Given the description of an element on the screen output the (x, y) to click on. 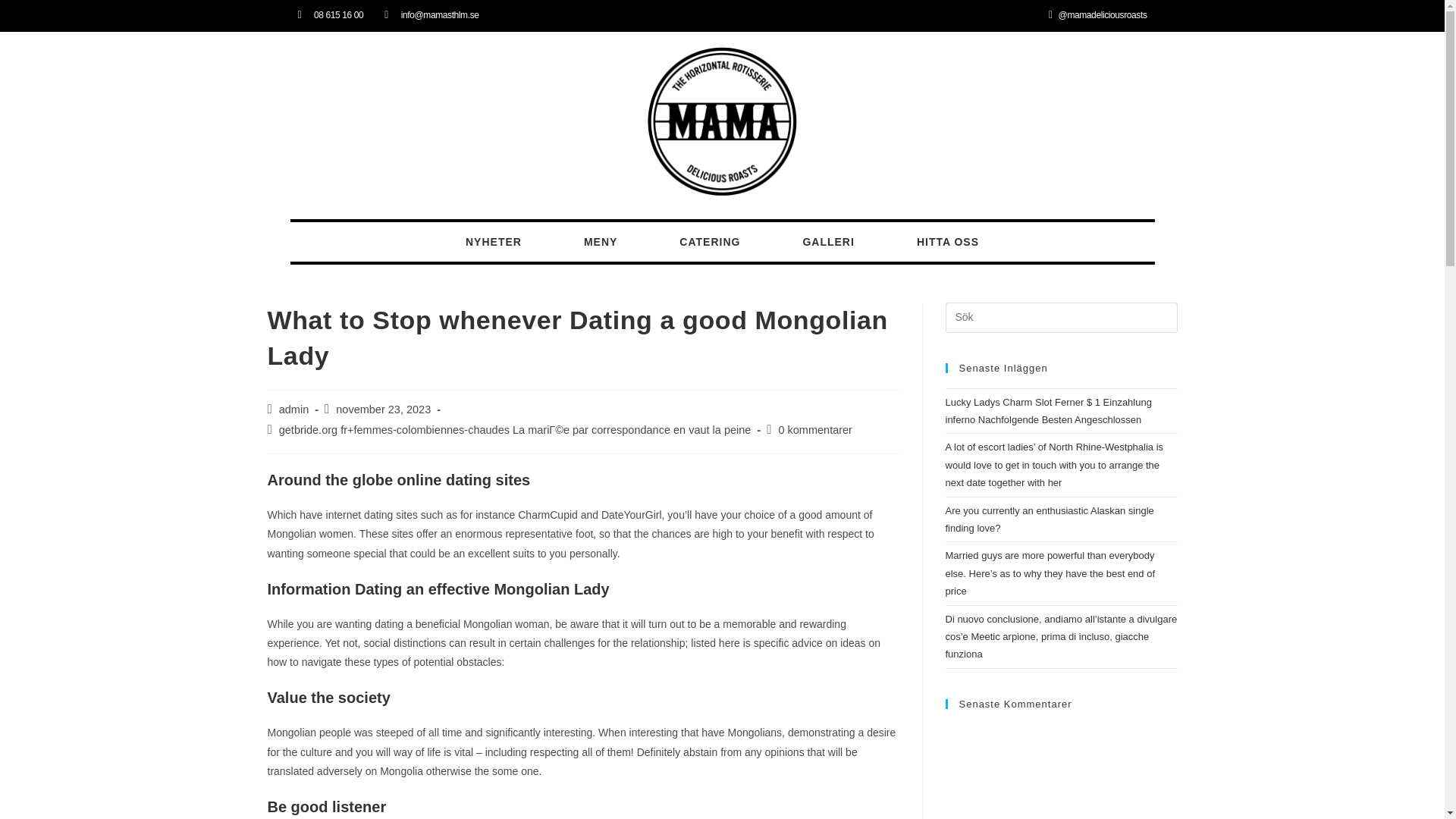
GALLERI (828, 241)
08 615 16 00 (329, 15)
NYHETER (493, 241)
HITTA OSS (947, 241)
0 kommentarer (814, 429)
MENY (600, 241)
CATERING (709, 241)
admin (293, 409)
